Given the description of an element on the screen output the (x, y) to click on. 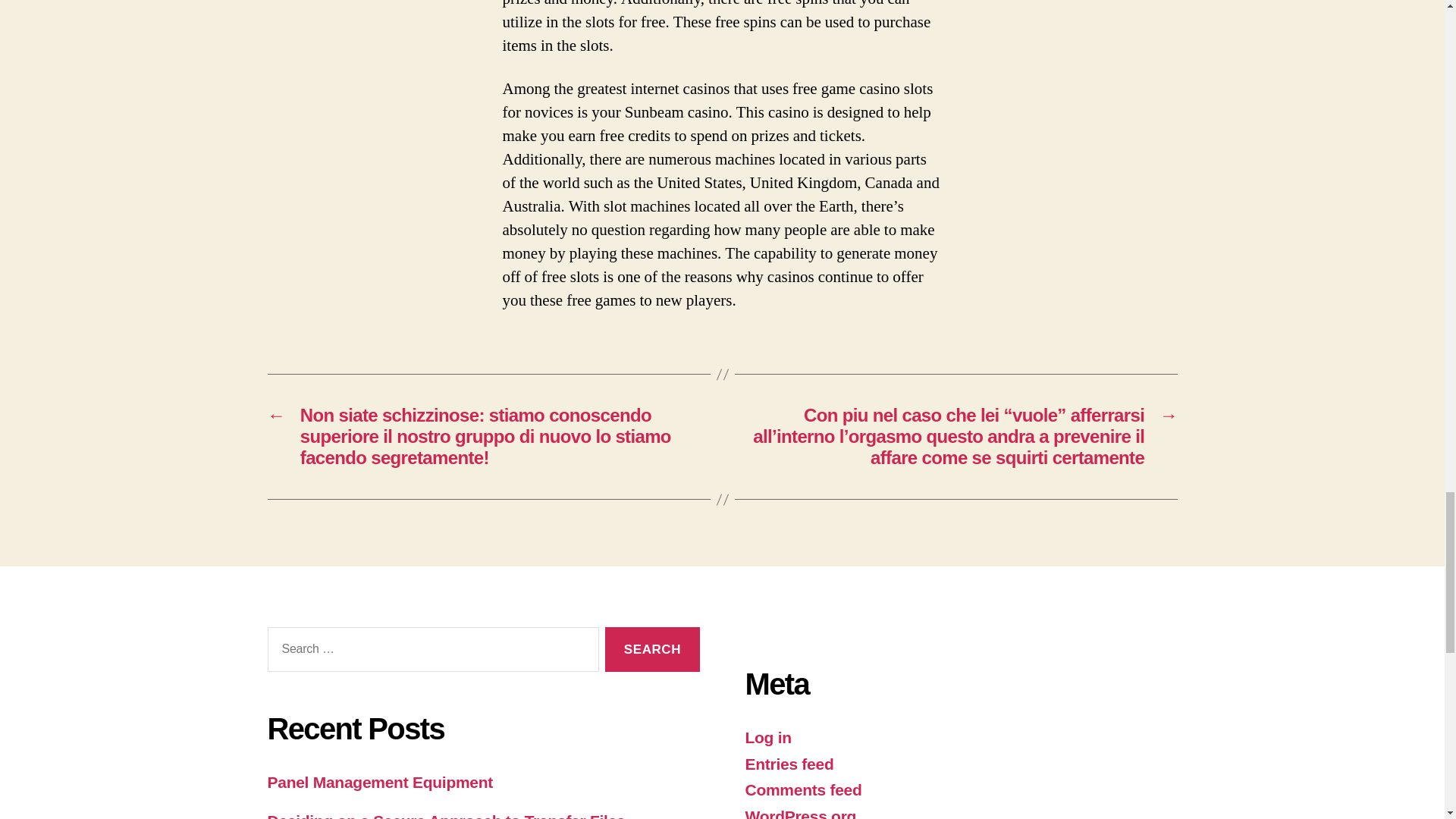
Deciding on a Secure Approach to Transfer Files (445, 815)
Panel Management Equipment (379, 782)
Search (651, 649)
Search (651, 649)
Search (651, 649)
